Given the description of an element on the screen output the (x, y) to click on. 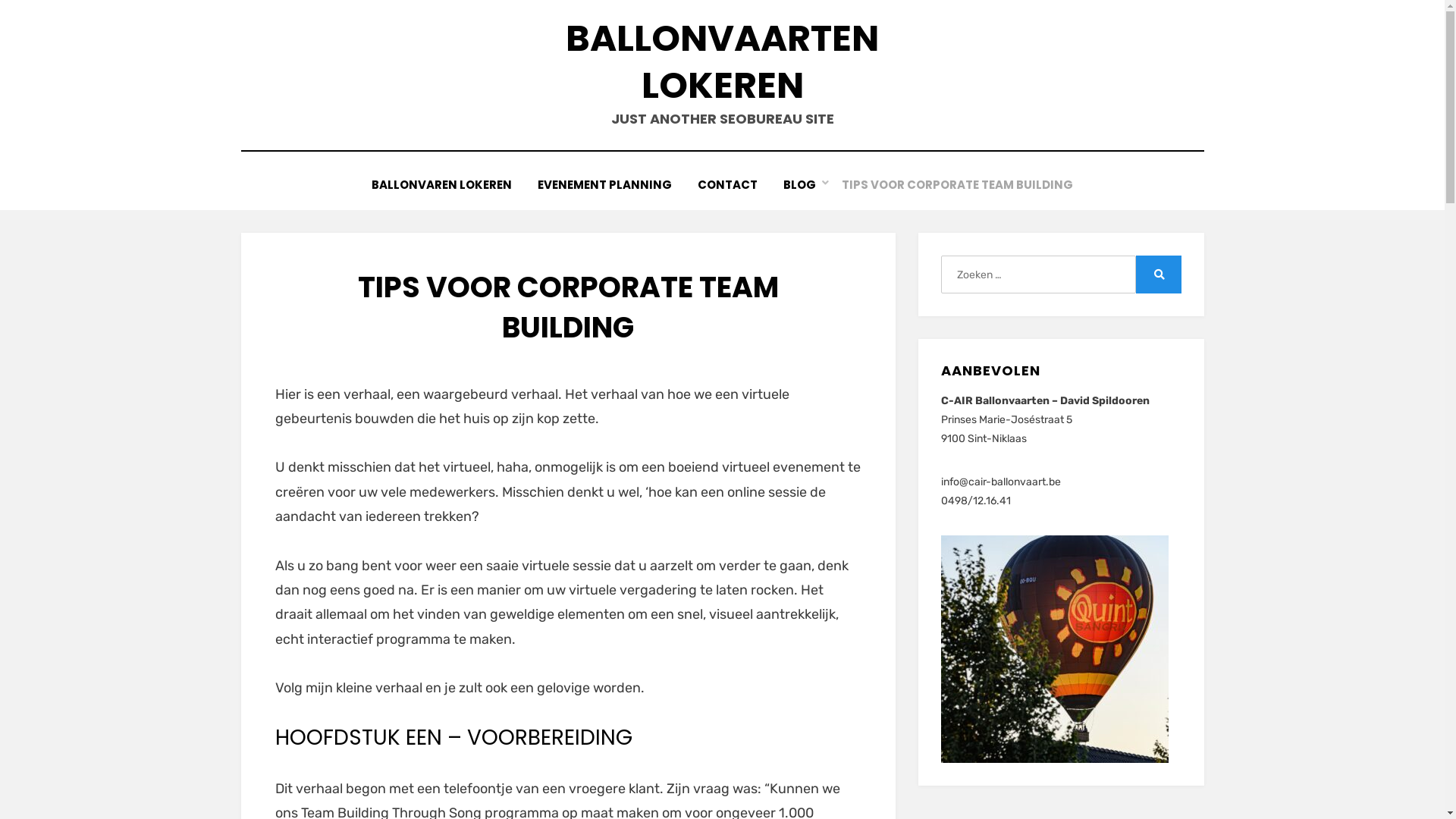
Zoeken Element type: text (1158, 274)
EVENEMENT PLANNING Element type: text (604, 184)
TIPS VOOR CORPORATE TEAM BUILDING Element type: text (956, 184)
0498/12.16.41 Element type: text (975, 500)
info@cair-ballonvaart.be Element type: text (1000, 481)
BLOG Element type: text (799, 184)
BALLONVAARTEN LOKEREN Element type: text (721, 61)
Zoeken naar: Element type: hover (1038, 274)
BALLONVAREN LOKEREN Element type: text (441, 184)
CONTACT Element type: text (727, 184)
